Given the description of an element on the screen output the (x, y) to click on. 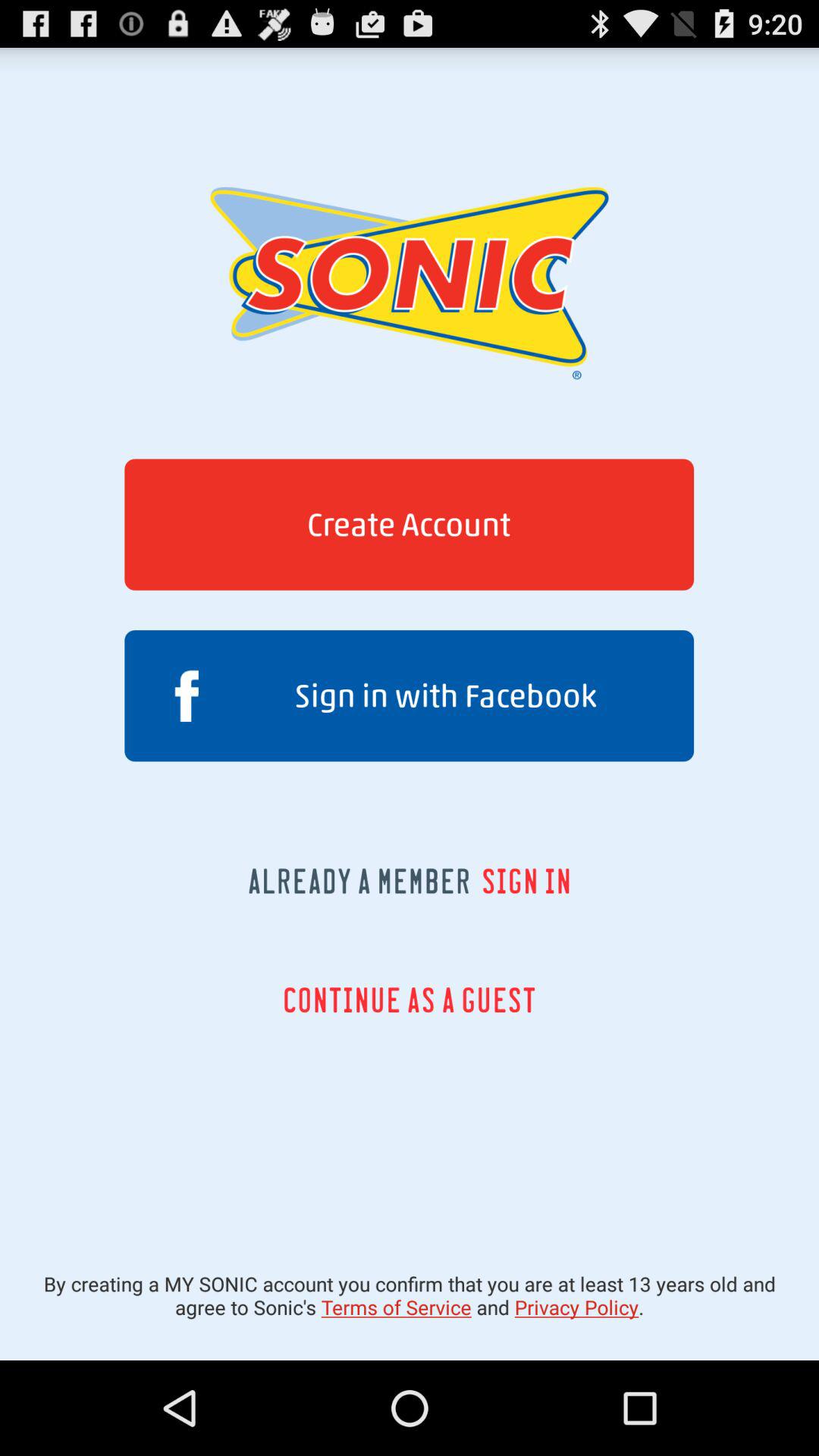
scroll to the by creating a (409, 1295)
